Given the description of an element on the screen output the (x, y) to click on. 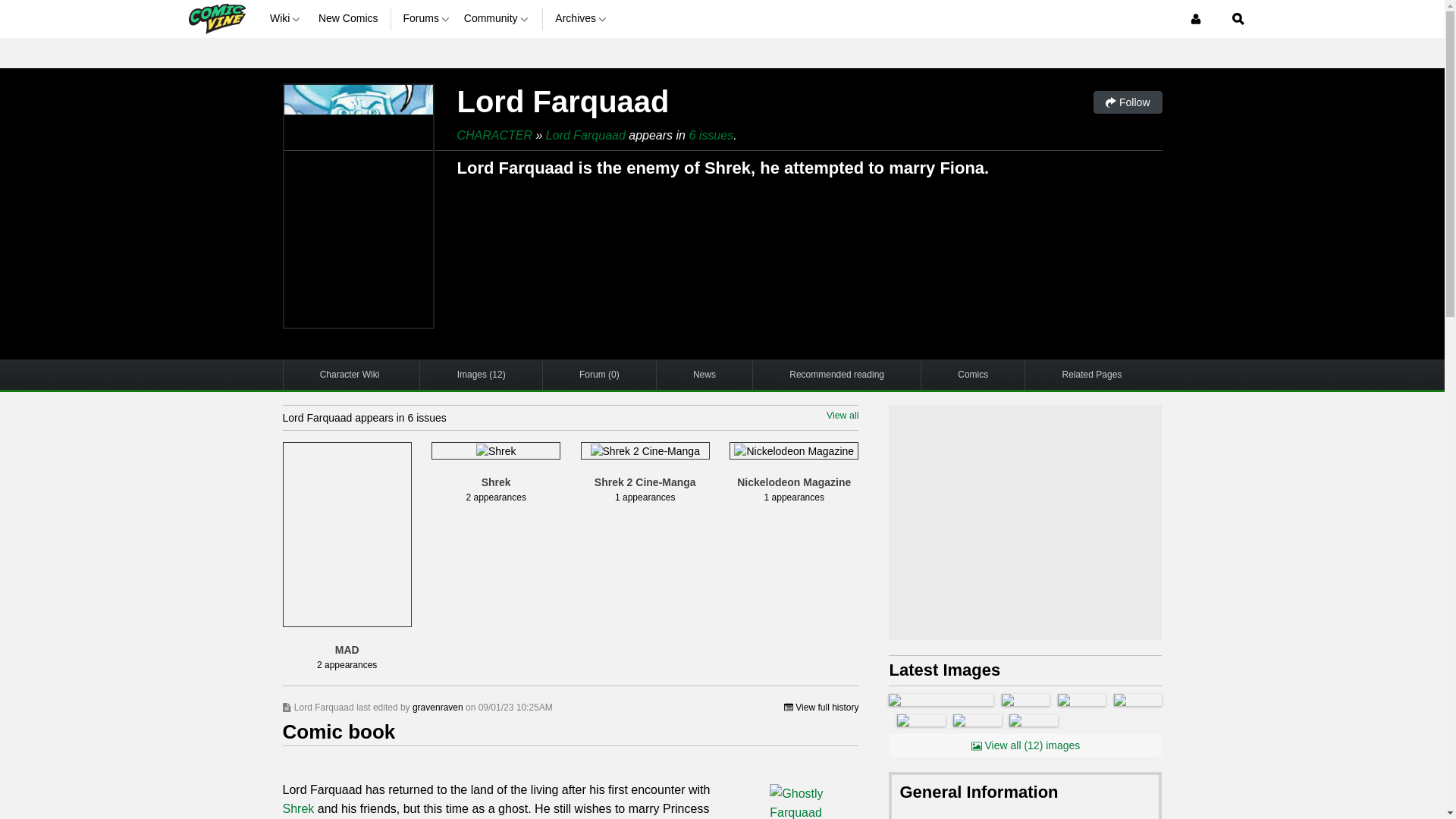
Forums (427, 18)
Wiki (287, 18)
Community (497, 18)
Comic Vine (215, 18)
New Comics (348, 18)
